Given the description of an element on the screen output the (x, y) to click on. 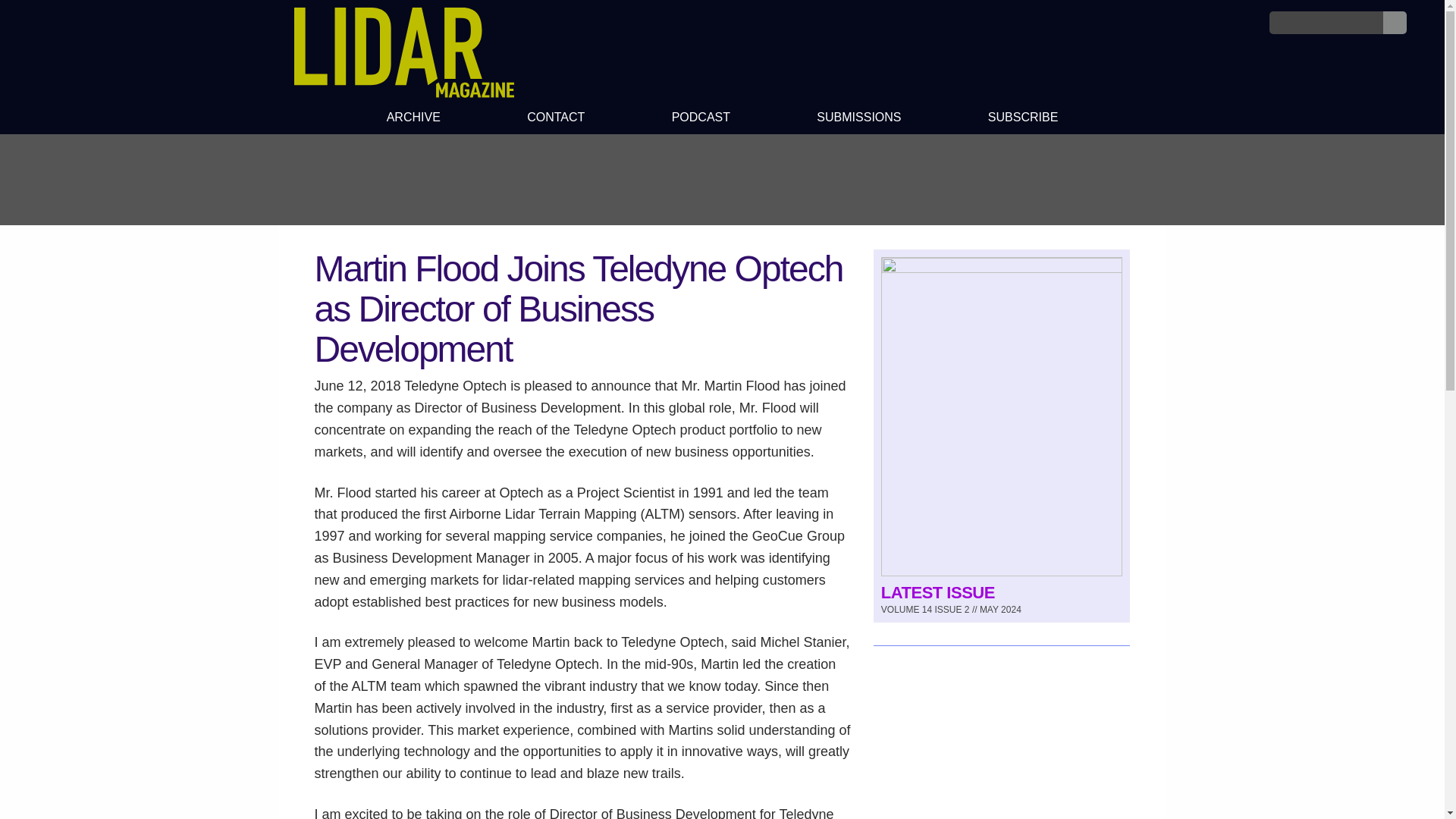
Search for: (1326, 22)
SUBMISSIONS (858, 119)
Submit (1394, 22)
Submit (1394, 22)
LIDAR Magazine (403, 52)
LIDAR Magazine (403, 92)
PODCAST (700, 119)
CONTACT (555, 119)
SUBSCRIBE (1023, 119)
ARCHIVE (412, 119)
Submit (1394, 22)
